Given the description of an element on the screen output the (x, y) to click on. 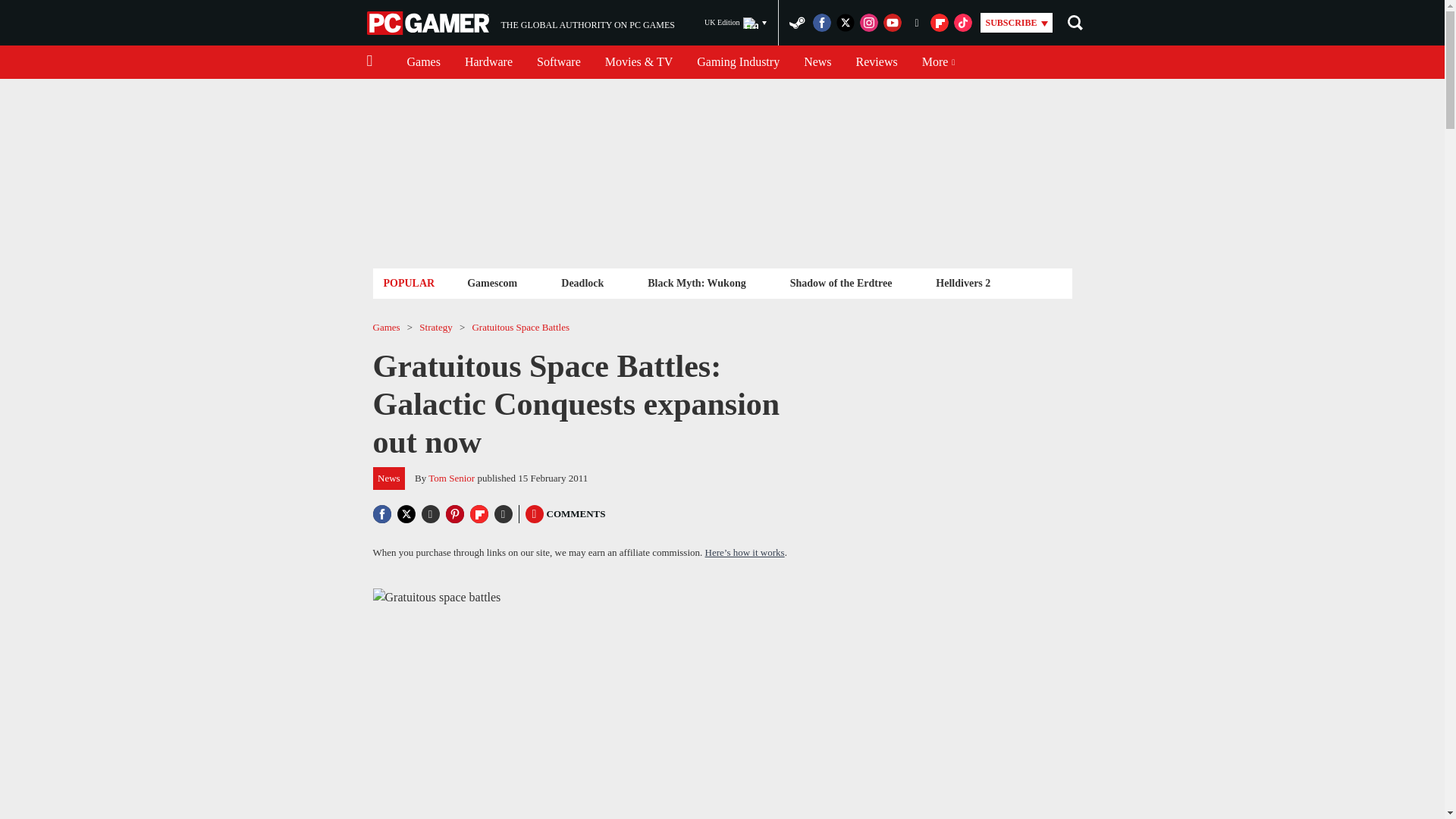
Games (422, 61)
News (817, 61)
Deadlock (582, 282)
Gaming Industry (520, 22)
Software (738, 61)
UK Edition (558, 61)
PC Gamer (735, 22)
Gamescom (429, 22)
Reviews (491, 282)
